Given the description of an element on the screen output the (x, y) to click on. 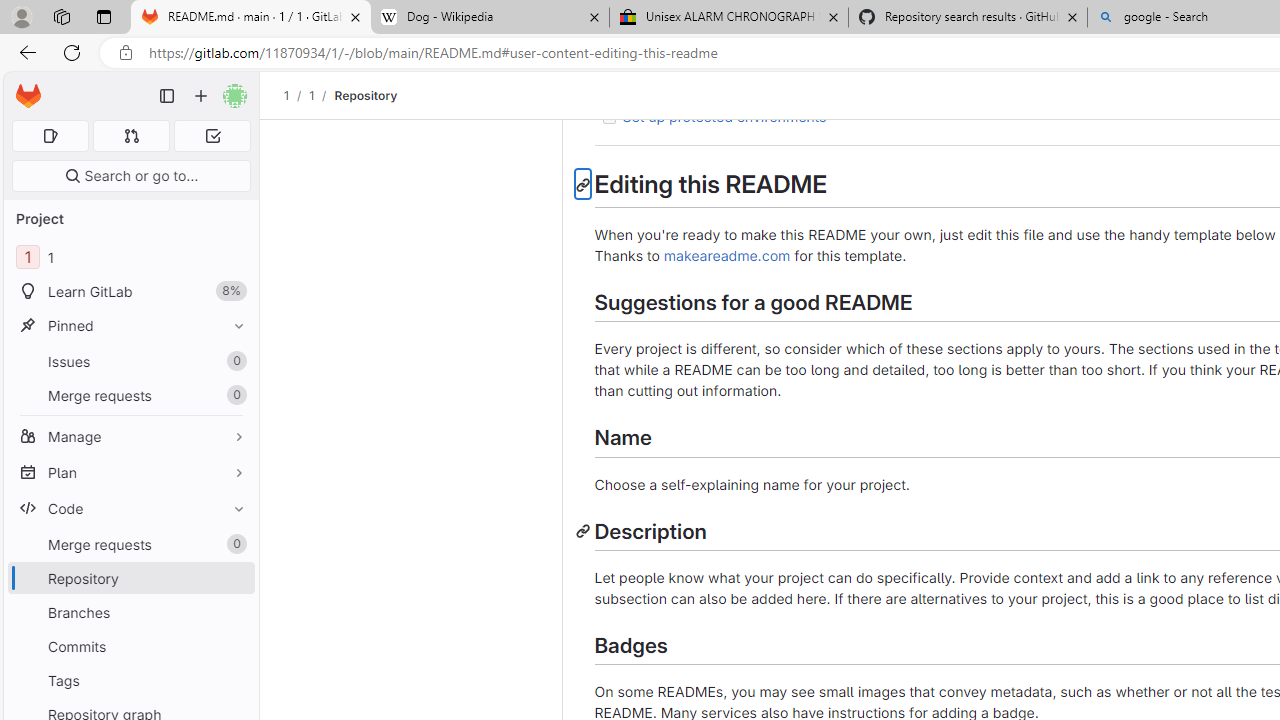
Issues0 (130, 361)
Pin Repository (234, 578)
Tags (130, 679)
Unpin Issues (234, 361)
Plan (130, 471)
Dog - Wikipedia (490, 17)
Plan (130, 471)
Merge requests 0 (131, 136)
Create new... (201, 96)
Merge requests0 (130, 543)
Branches (130, 612)
Commits (130, 646)
Assigned issues 0 (50, 136)
